Given the description of an element on the screen output the (x, y) to click on. 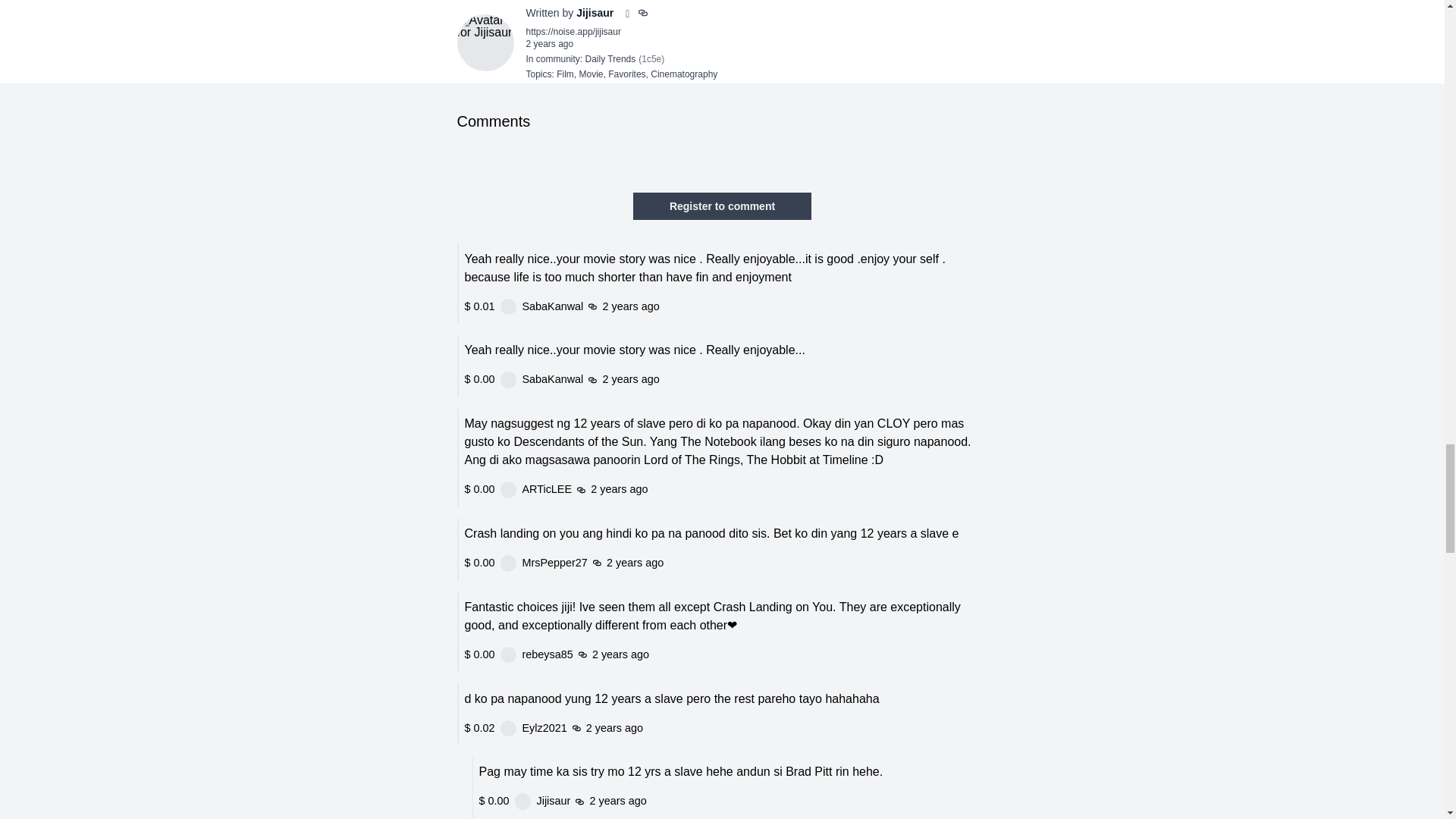
2022-01-14 02:37:58 (549, 43)
Link to this comment (658, 786)
Link to this comment (658, 704)
2022-01-15 05:36:44 (701, 704)
2022-01-15 05:35:14 (701, 785)
